Given the description of an element on the screen output the (x, y) to click on. 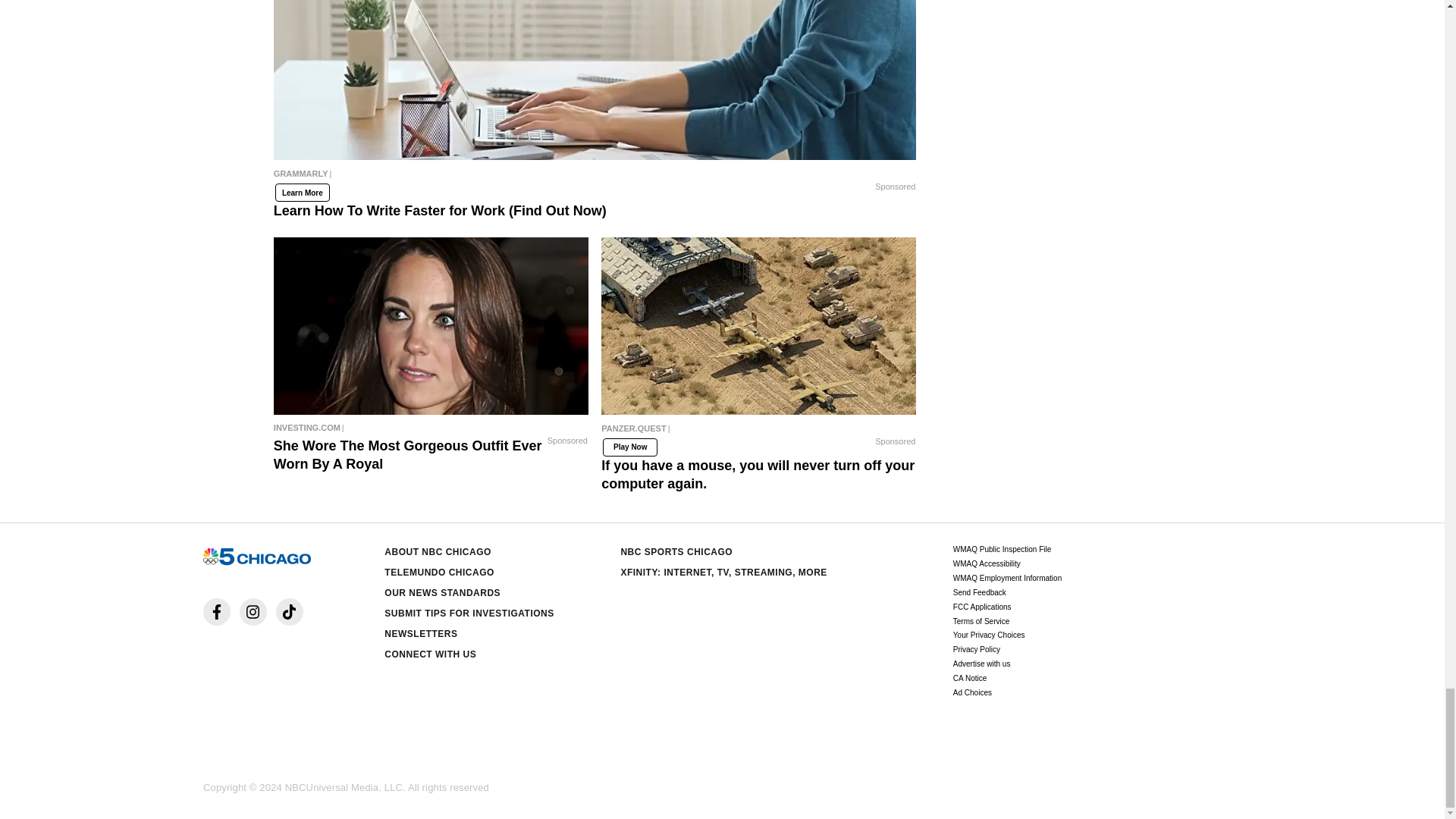
She Wore The Most Gorgeous Outfit Ever Worn By A Royal (430, 325)
She Wore The Most Gorgeous Outfit Ever Worn By A Royal (430, 427)
